Given the description of an element on the screen output the (x, y) to click on. 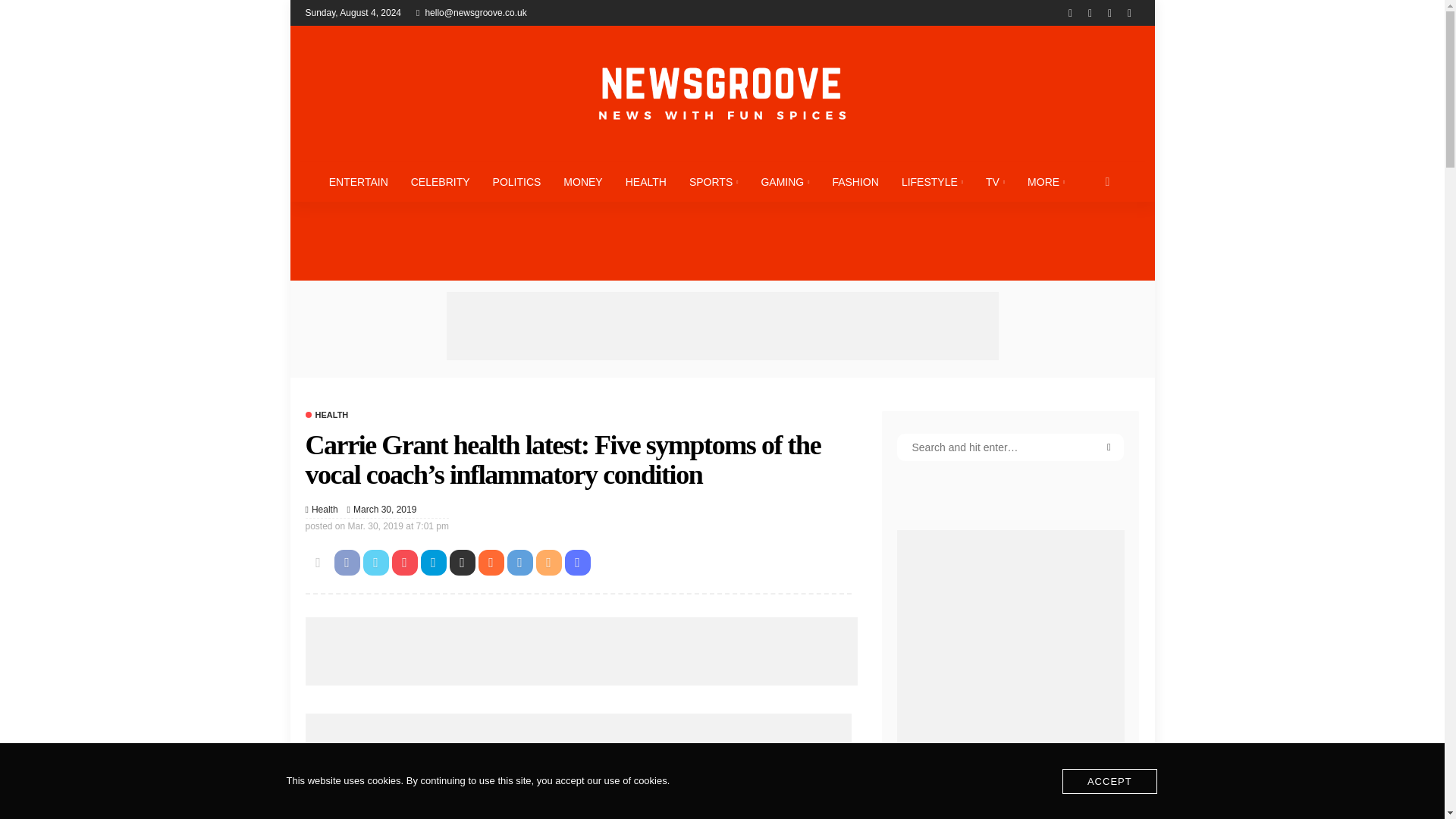
search (1106, 181)
NewsGroove Uk (721, 93)
ENTERTAIN (357, 181)
Health (324, 509)
Advertisement (721, 325)
HEALTH (646, 181)
Advertisement (580, 651)
MONEY (581, 181)
Health (325, 415)
CELEBRITY (439, 181)
POLITICS (517, 181)
GAMING (785, 181)
SPORTS (713, 181)
